Given the description of an element on the screen output the (x, y) to click on. 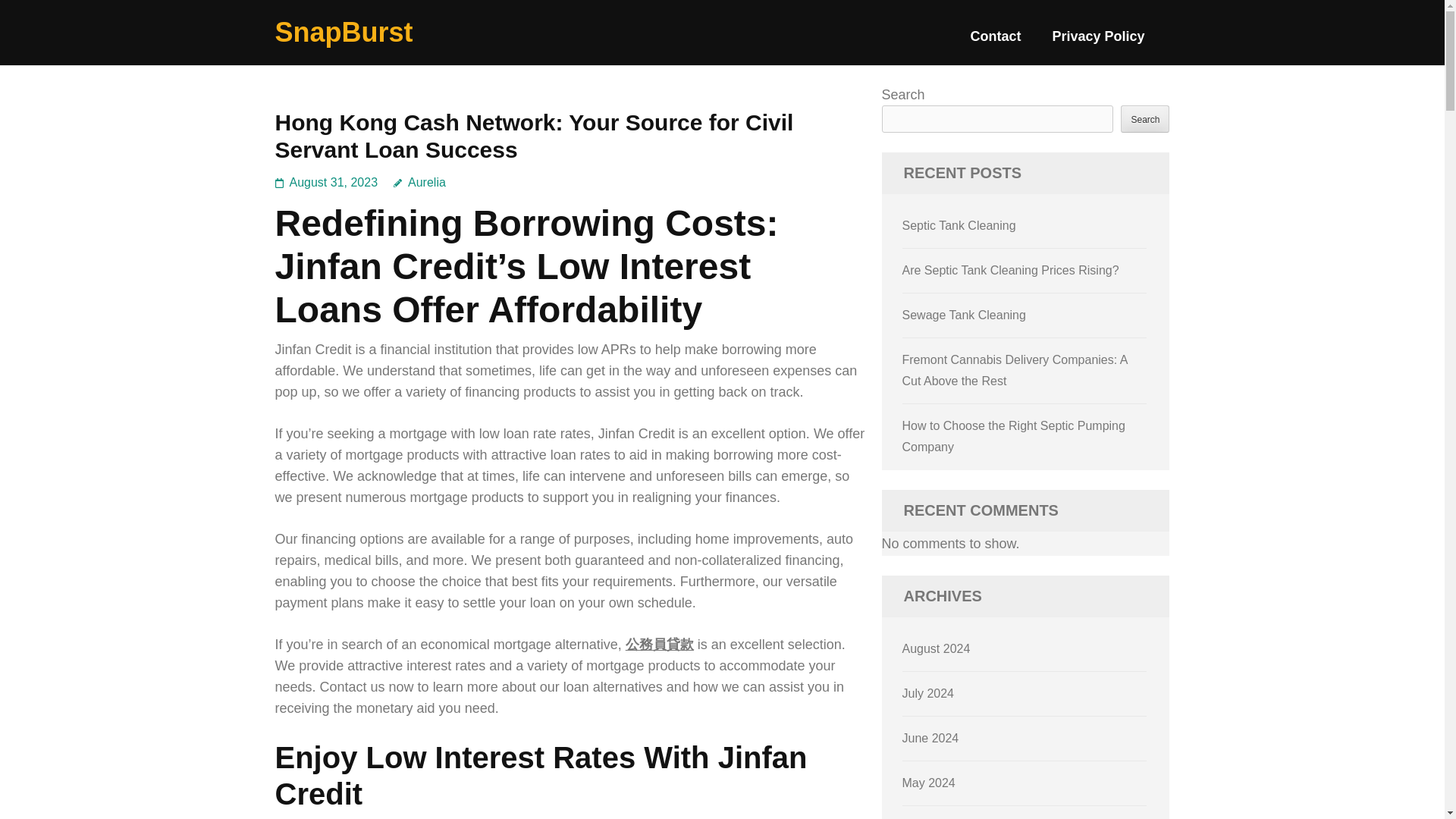
SnapBurst (343, 31)
Fremont Cannabis Delivery Companies: A Cut Above the Rest (1014, 369)
July 2024 (928, 693)
Privacy Policy (1097, 42)
August 31, 2023 (333, 182)
Septic Tank Cleaning (959, 225)
May 2024 (928, 782)
How to Choose the Right Septic Pumping Company (1013, 436)
Sewage Tank Cleaning (964, 314)
Are Septic Tank Cleaning Prices Rising? (1010, 269)
